Given the description of an element on the screen output the (x, y) to click on. 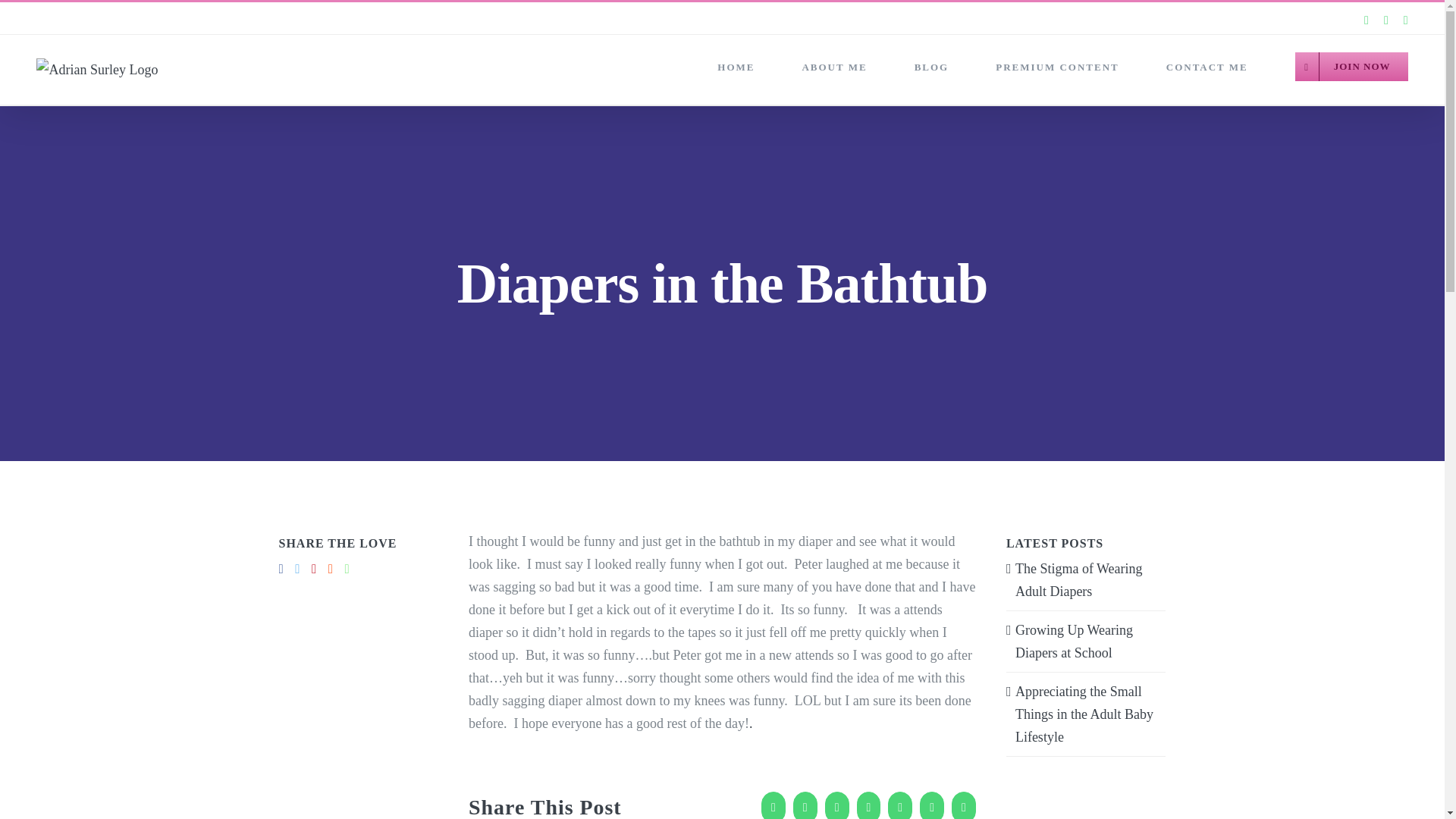
CONTACT ME (1206, 66)
Twitter (804, 805)
LinkedIn (868, 805)
Tumblr (931, 805)
Tumblr (931, 805)
JOIN NOW (1351, 66)
Twitter (804, 805)
PREMIUM CONTENT (1057, 66)
ABOUT ME (834, 66)
LinkedIn (868, 805)
